Given the description of an element on the screen output the (x, y) to click on. 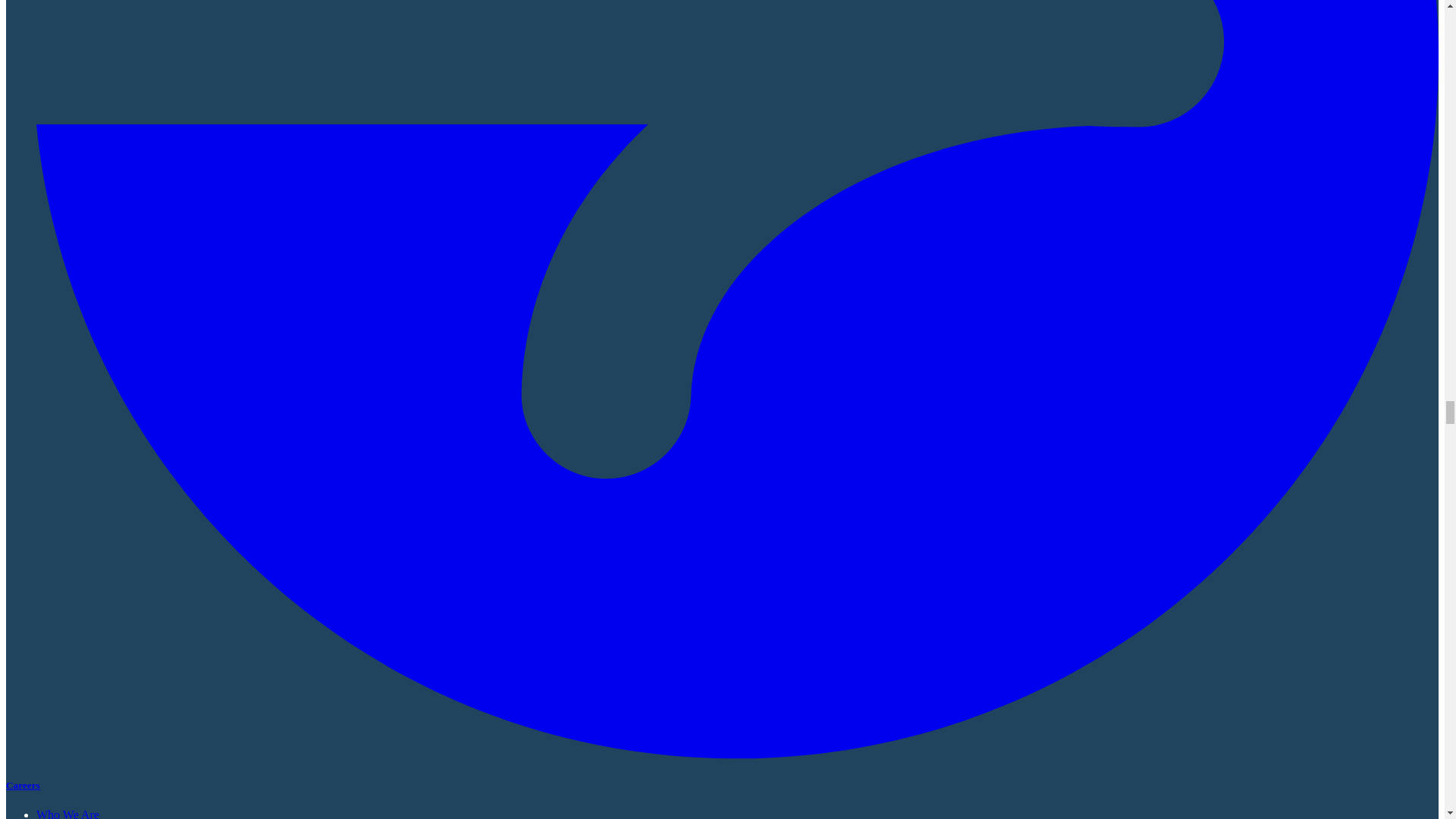
Careers (22, 785)
